Given the description of an element on the screen output the (x, y) to click on. 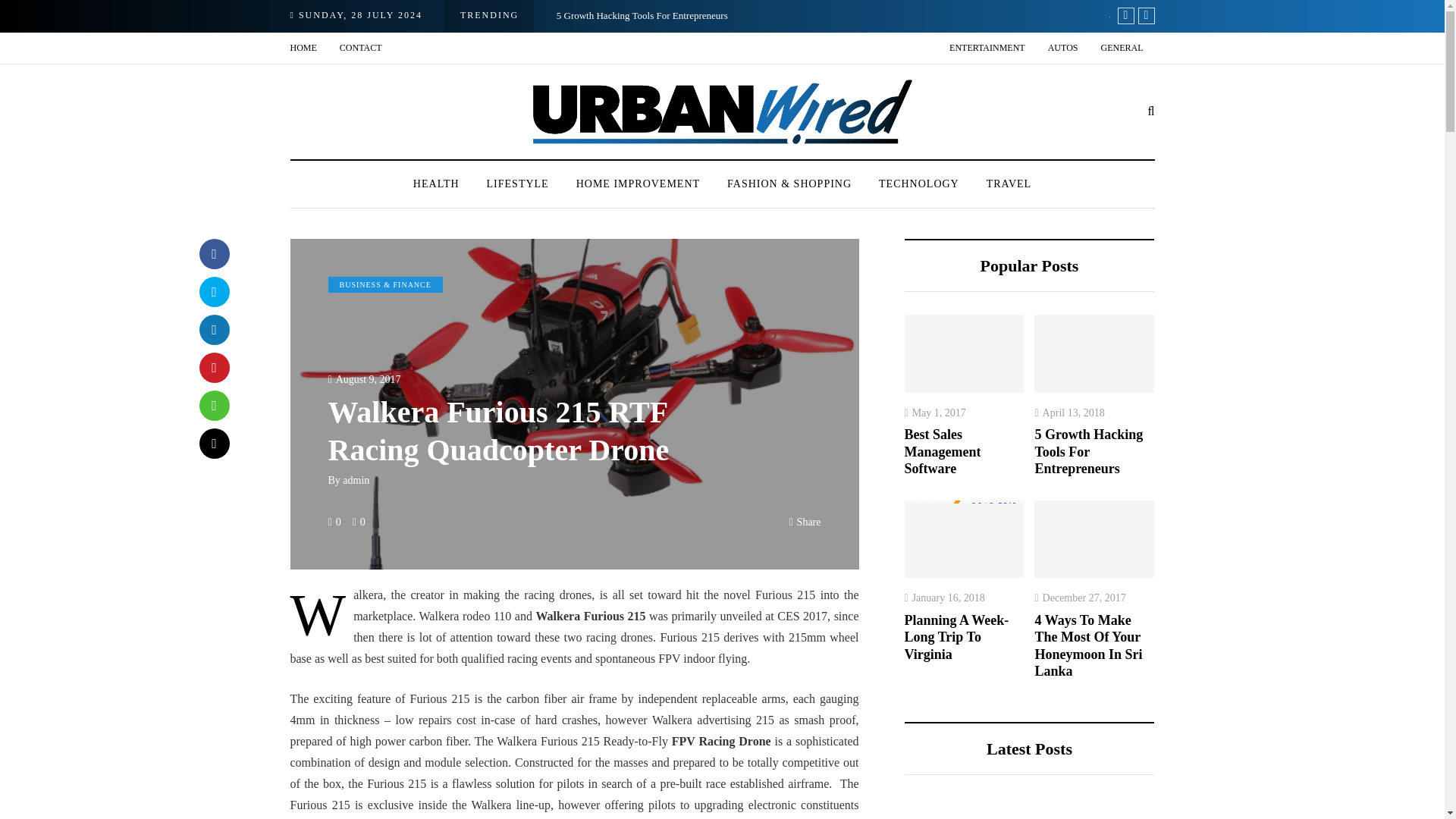
Share with LinkedIn (213, 329)
HOME (308, 47)
ENTERTAINMENT (986, 47)
TRAVEL (1008, 184)
GENERAL (1121, 47)
CONTACT (361, 47)
admin (355, 480)
5 Growth Hacking Tools For Entrepreneurs (642, 15)
HEALTH (435, 184)
HOME IMPROVEMENT (637, 184)
AUTOS (1062, 47)
Posts by admin (355, 480)
4 Ways To Make The Most Of Your Honeymoon In Sri Lanka (1231, 15)
Pin this (213, 367)
LIFESTYLE (517, 184)
